Given the description of an element on the screen output the (x, y) to click on. 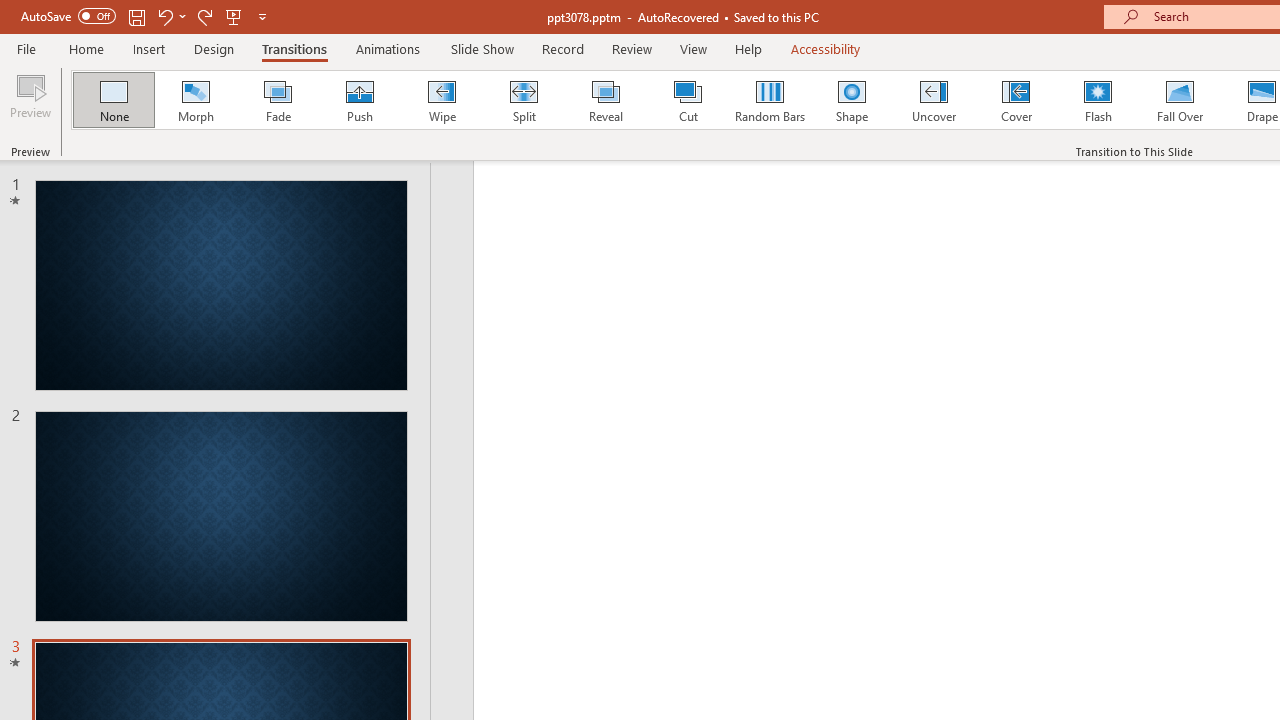
Wipe (441, 100)
None (113, 100)
